Given the description of an element on the screen output the (x, y) to click on. 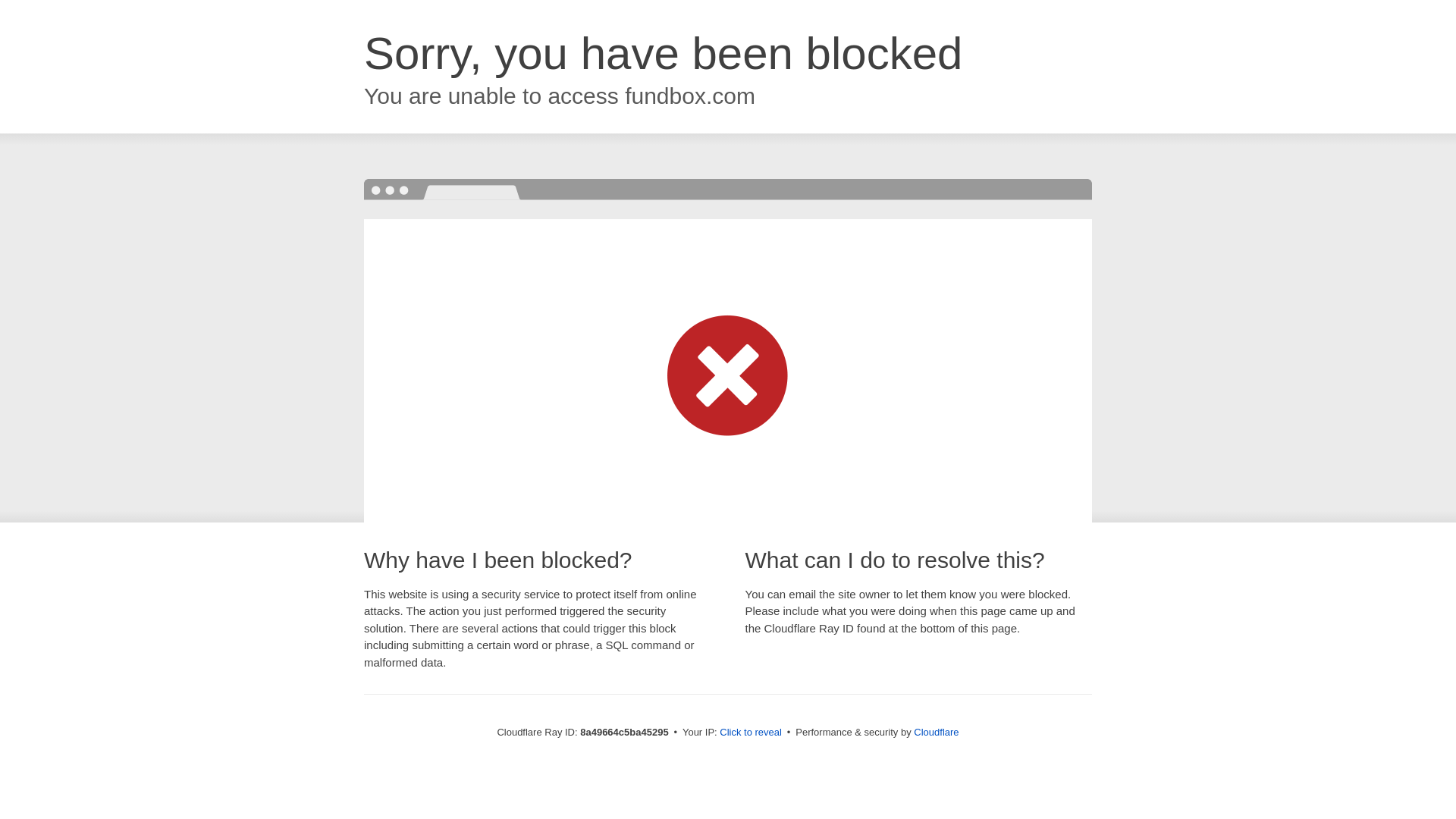
Click to reveal (750, 732)
Cloudflare (936, 731)
